Given the description of an element on the screen output the (x, y) to click on. 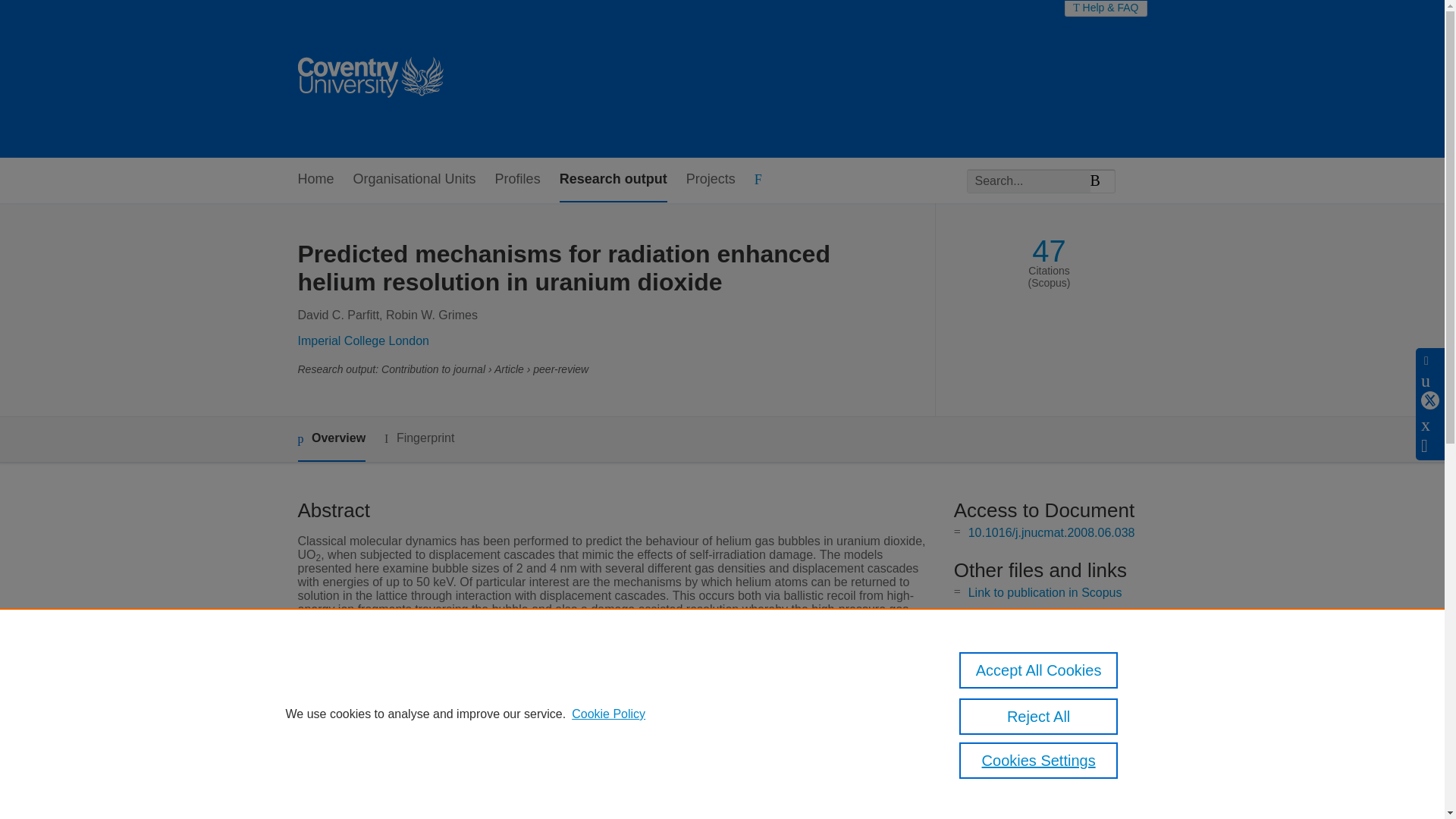
Profiles (517, 180)
Coventry University Home (369, 78)
Fingerprint (419, 438)
Journal of Nuclear Materials (584, 713)
Research output (612, 180)
Imperial College London (362, 340)
Overview (331, 438)
47 (1048, 251)
Organisational Units (414, 180)
Link to publication in Scopus (1045, 592)
Projects (710, 180)
